Given the description of an element on the screen output the (x, y) to click on. 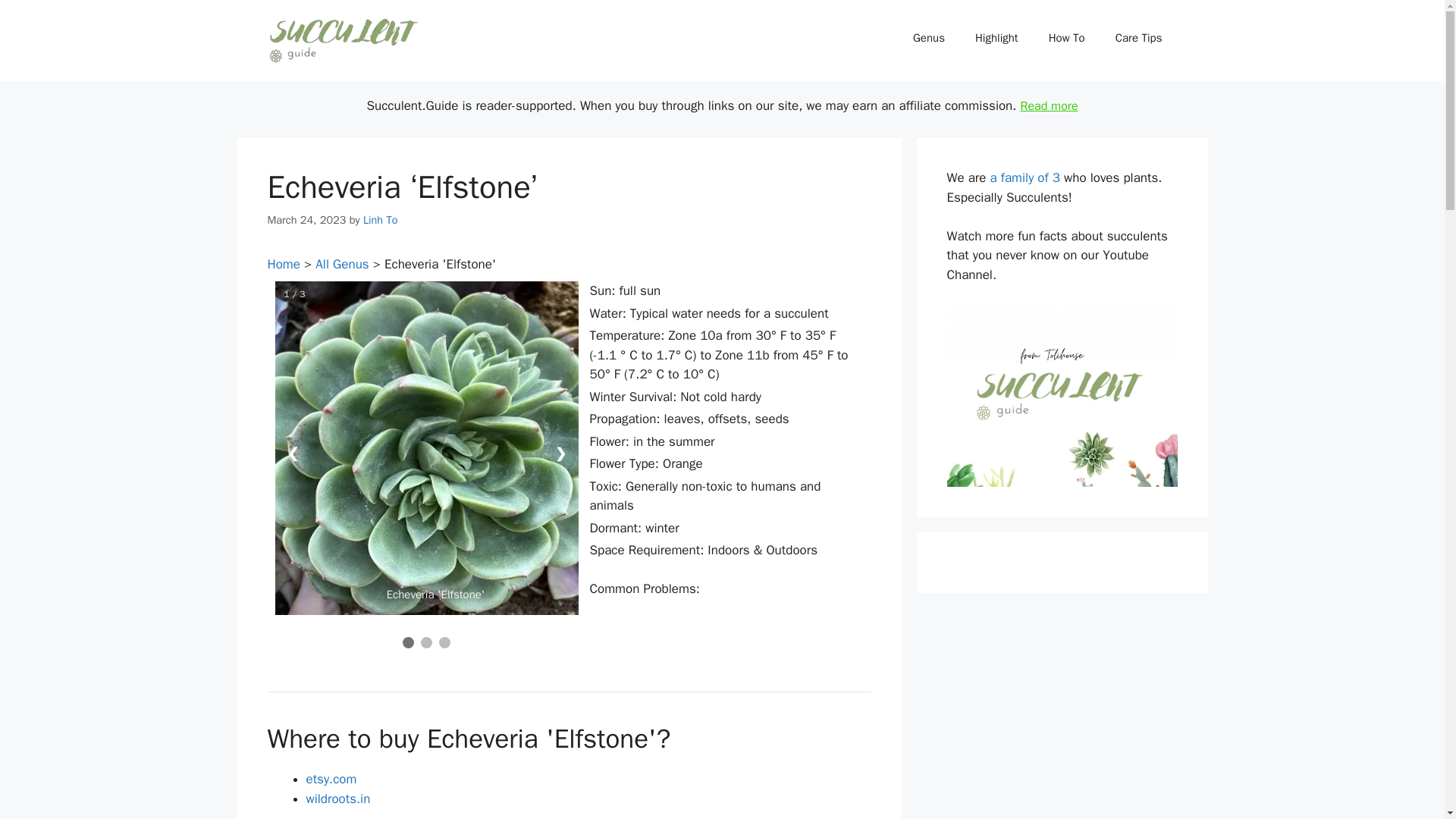
Care Tips (1138, 37)
Genus (928, 37)
wildroots.in (338, 798)
Home (282, 263)
How To (1066, 37)
All Genus (341, 263)
View all posts by Linh To (379, 219)
Highlight (996, 37)
Succulent Guide (342, 39)
etsy.com (330, 779)
